Given the description of an element on the screen output the (x, y) to click on. 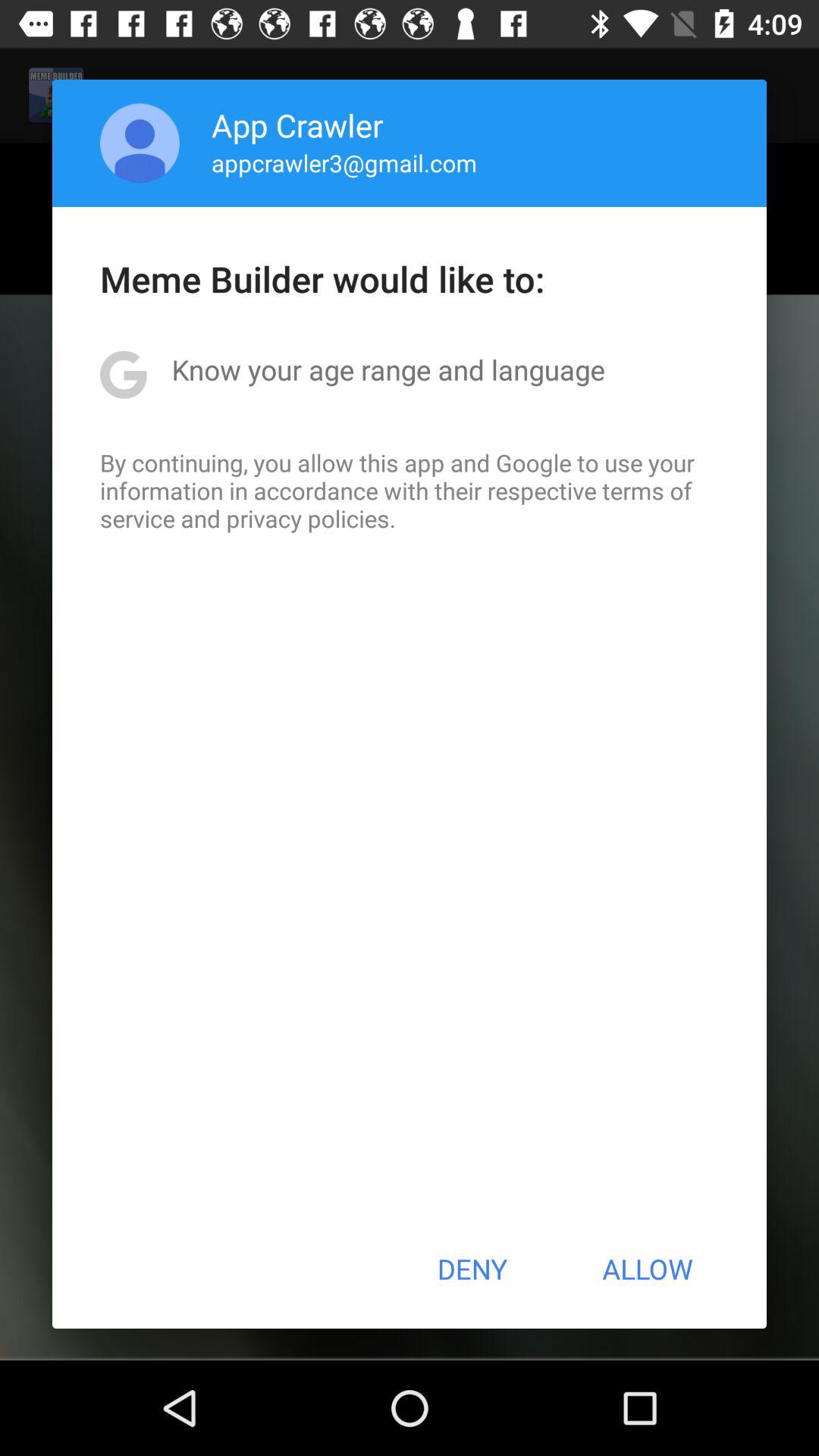
select icon below by continuing you (471, 1268)
